Given the description of an element on the screen output the (x, y) to click on. 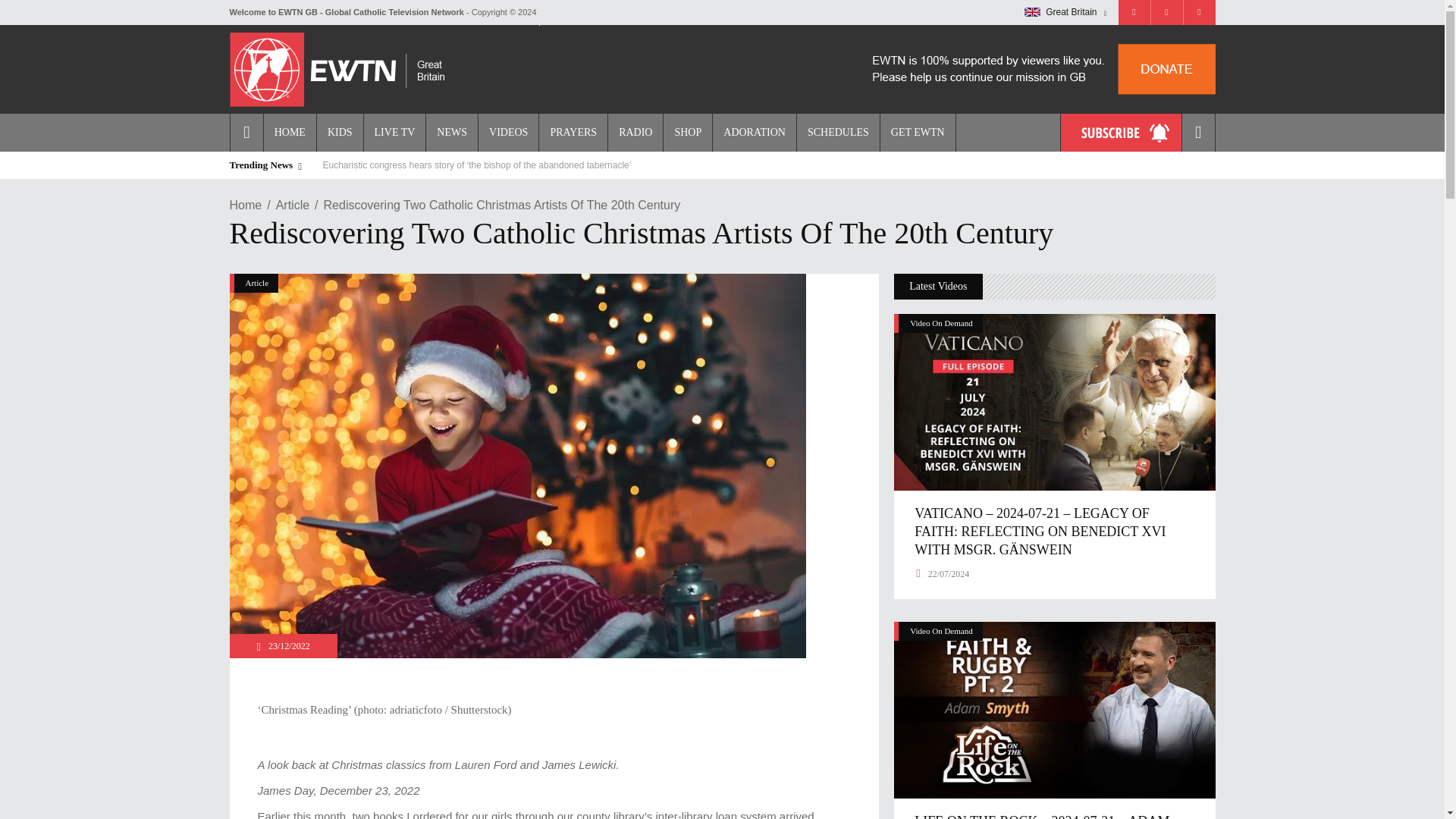
RADIO (634, 132)
LIVE TV (394, 132)
ADORATION (753, 132)
GET EWTN (917, 132)
HOME (289, 132)
SHOP (686, 132)
VIDEOS (507, 132)
Great Britain (1033, 11)
  Great Britain (1065, 12)
SCHEDULES (837, 132)
NEWS (451, 132)
PRAYERS (572, 132)
KIDS (338, 132)
